Given the description of an element on the screen output the (x, y) to click on. 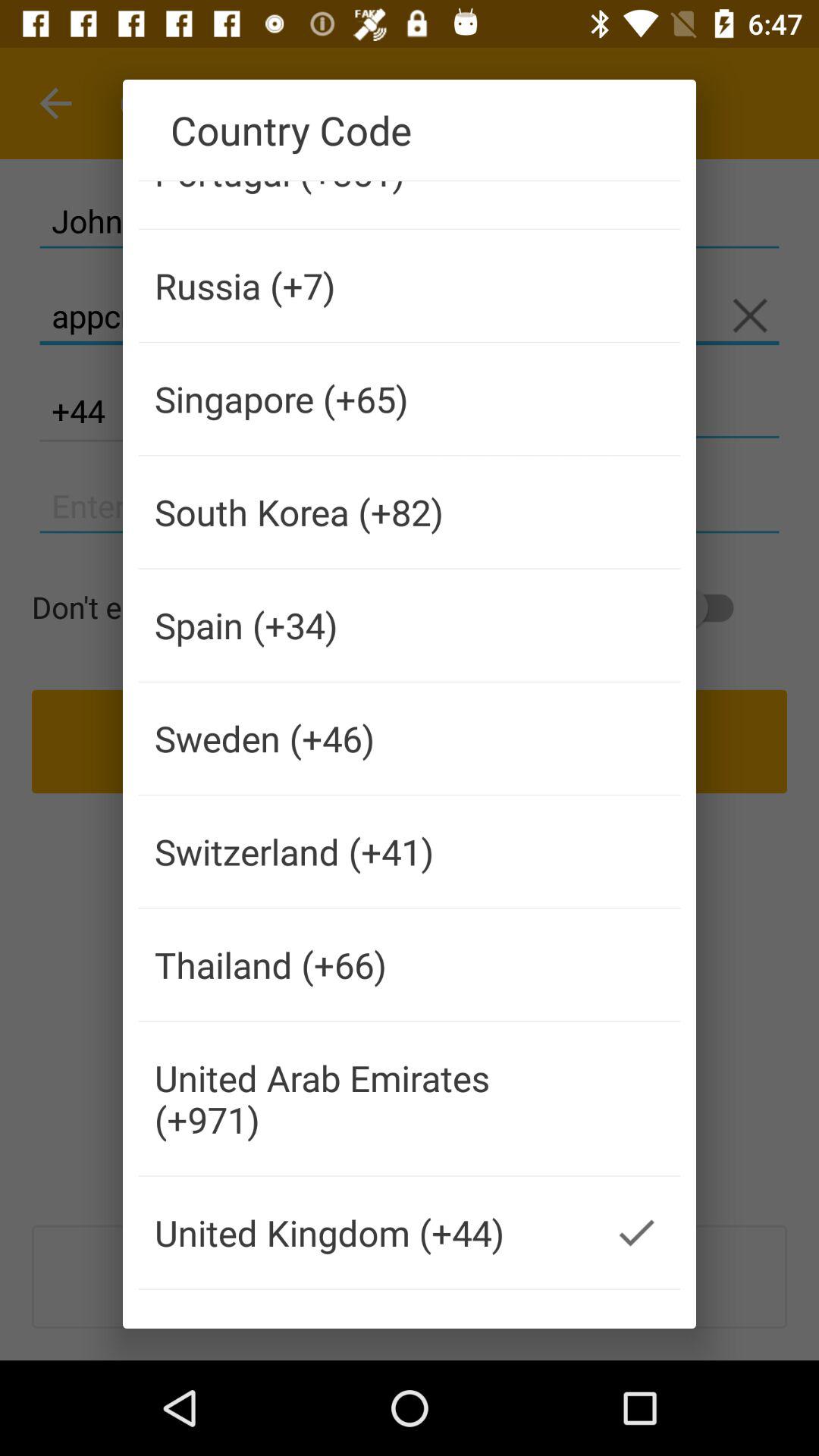
choose sweden (+46) item (365, 738)
